Given the description of an element on the screen output the (x, y) to click on. 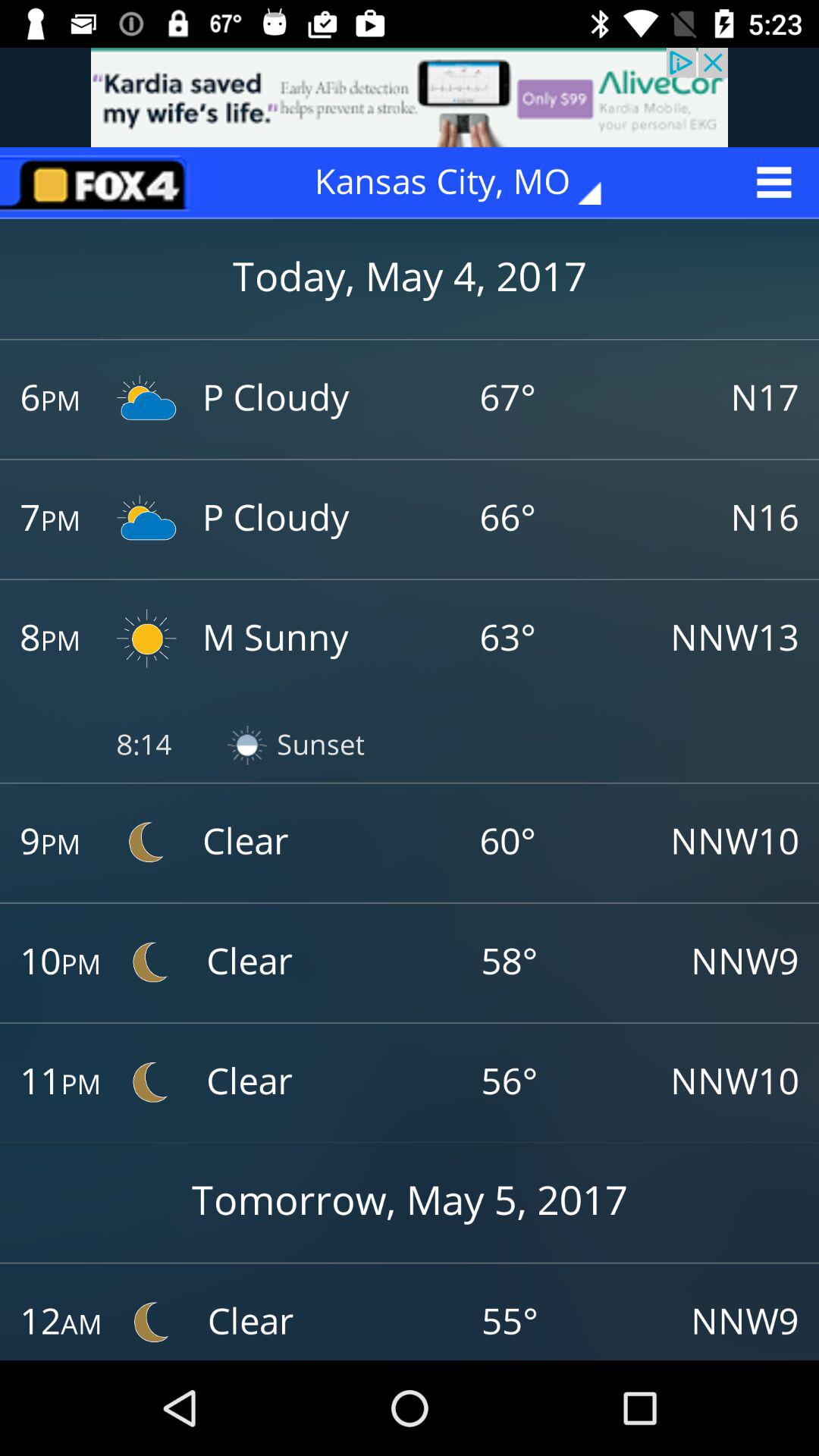
go to the main page (99, 182)
